Given the description of an element on the screen output the (x, y) to click on. 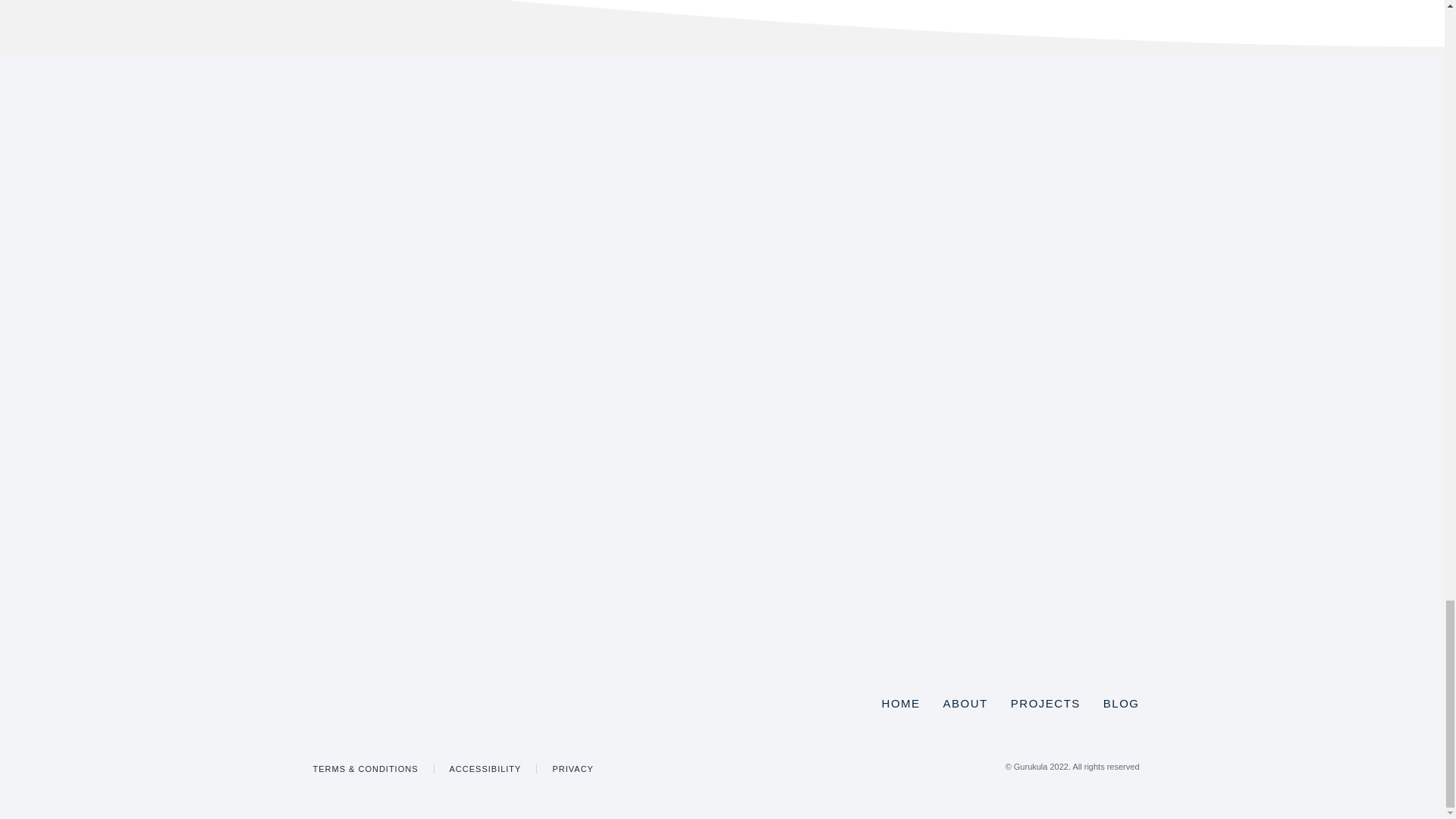
ABOUT (965, 703)
ACCESSIBILITY (485, 768)
PROJECTS (1045, 703)
PRIVACY (571, 768)
Submit (690, 575)
